Given the description of an element on the screen output the (x, y) to click on. 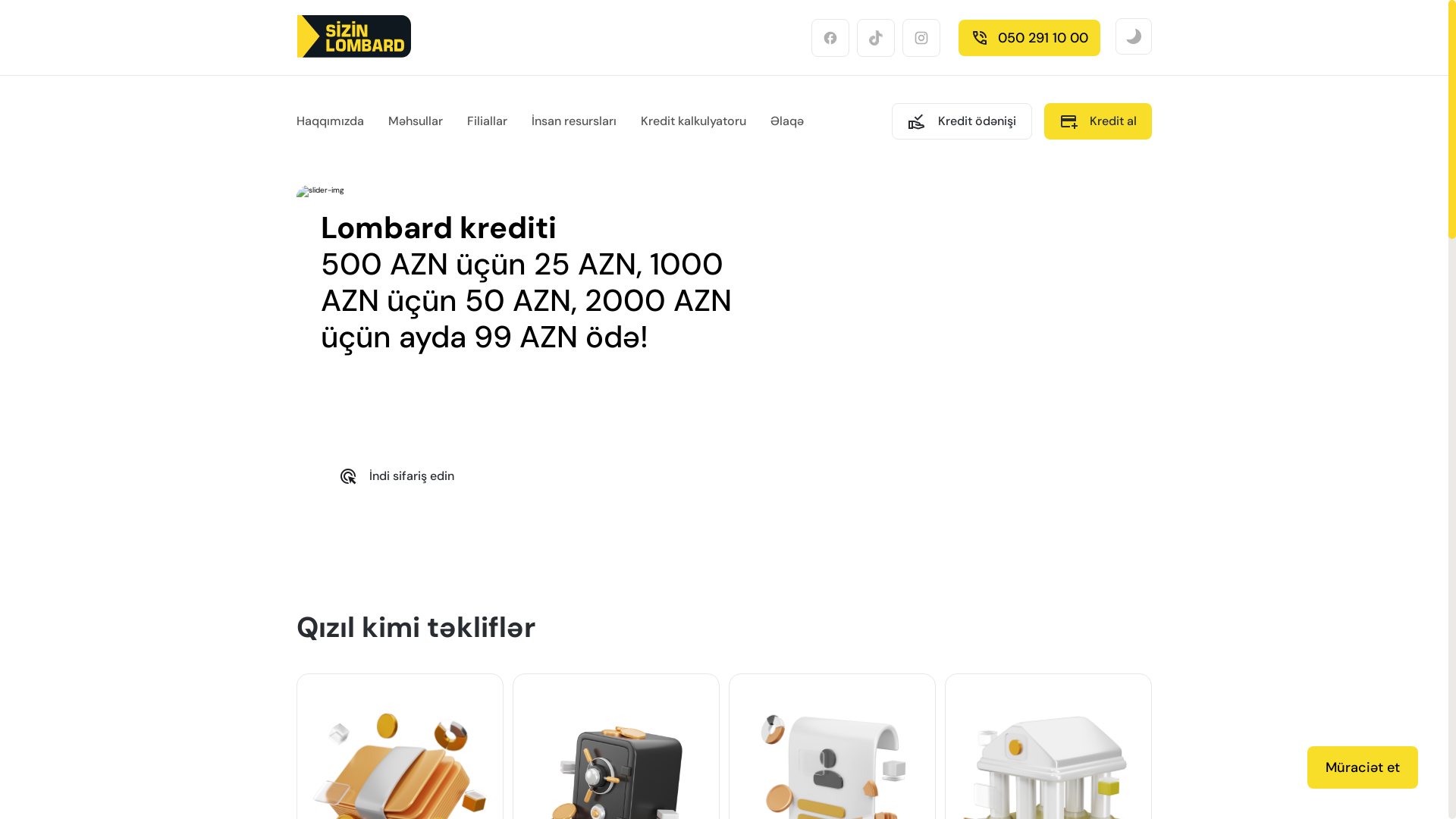
Kredit kalkulyatoru Element type: text (693, 121)
Kredit al Element type: text (1097, 121)
050 291 10 00 Element type: text (1029, 37)
Filiallar Element type: text (487, 121)
